Given the description of an element on the screen output the (x, y) to click on. 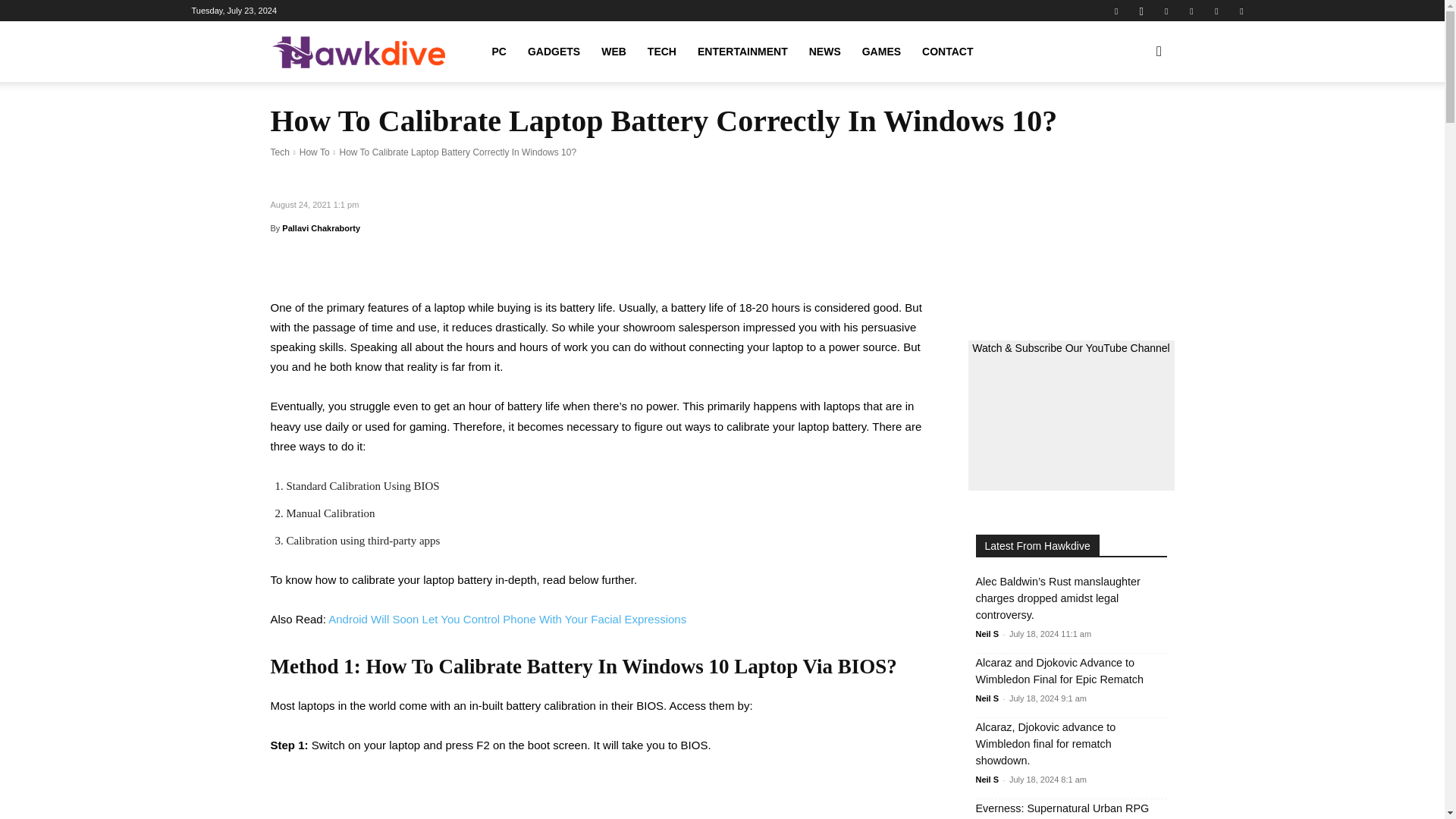
Twitter (1216, 10)
Telegram (1190, 10)
Pinterest (1165, 10)
Youtube (1241, 10)
Instagram (1141, 10)
Facebook (1115, 10)
